Given the description of an element on the screen output the (x, y) to click on. 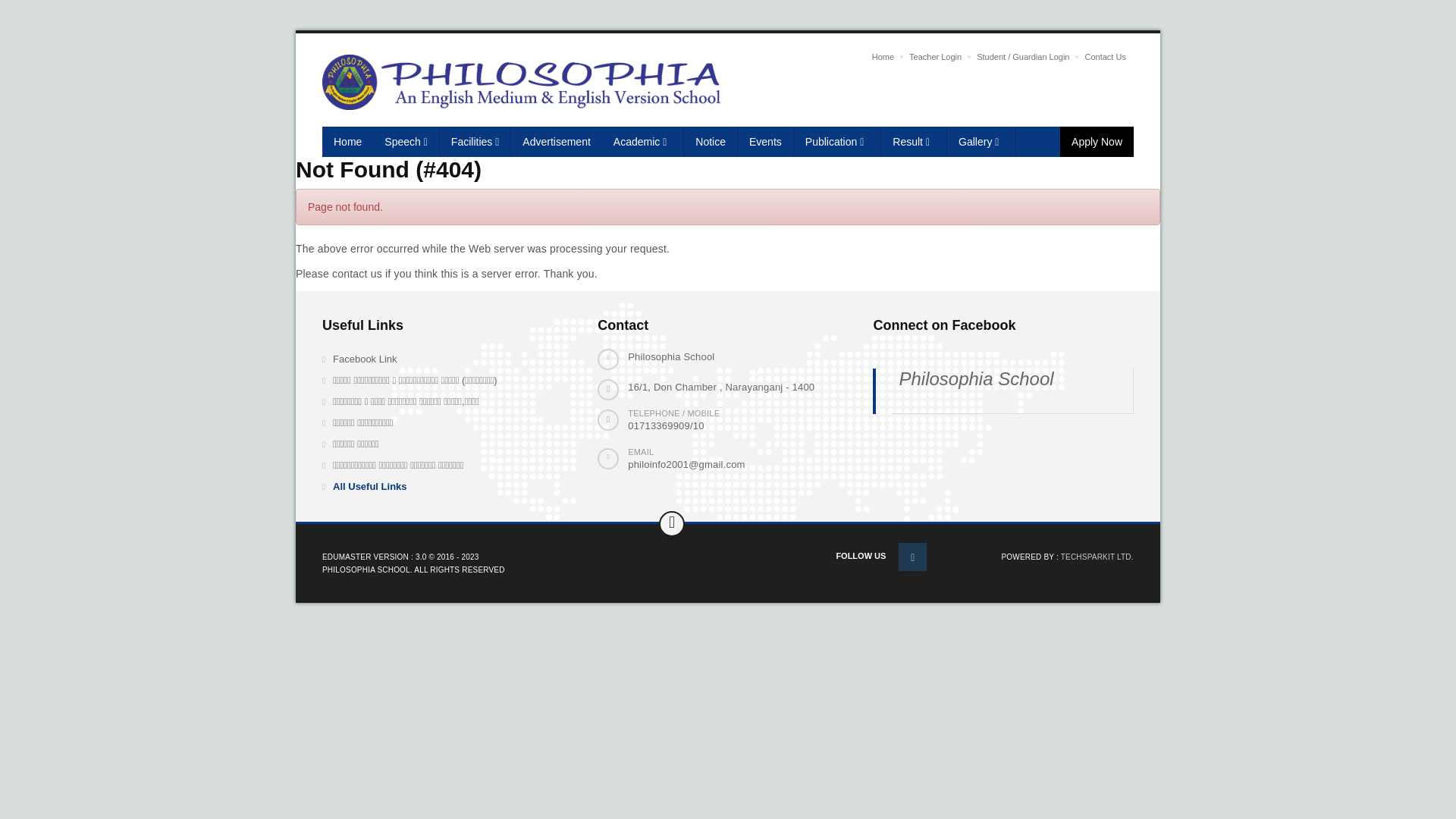
Publication Element type: text (837, 141)
Home Element type: text (882, 56)
Events Element type: text (765, 141)
Advertisement Element type: text (556, 141)
Notice Element type: text (710, 141)
Philosophia School Element type: text (975, 378)
Facilities Element type: text (475, 141)
Student / Guardian Login Element type: text (1022, 56)
Apply Now Element type: text (1096, 141)
Academic Element type: text (643, 141)
Contact Us Element type: text (1104, 56)
Home Element type: text (347, 141)
philoinfo2001@gmail.com Element type: text (685, 464)
Teacher Login Element type: text (935, 56)
Result Element type: text (914, 141)
TECHSPARKIT LTD. Element type: text (1096, 556)
Speech Element type: text (406, 141)
Gallery Element type: text (981, 141)
Facebook Link Element type: text (432, 359)
All Useful Links Element type: text (432, 486)
